Given the description of an element on the screen output the (x, y) to click on. 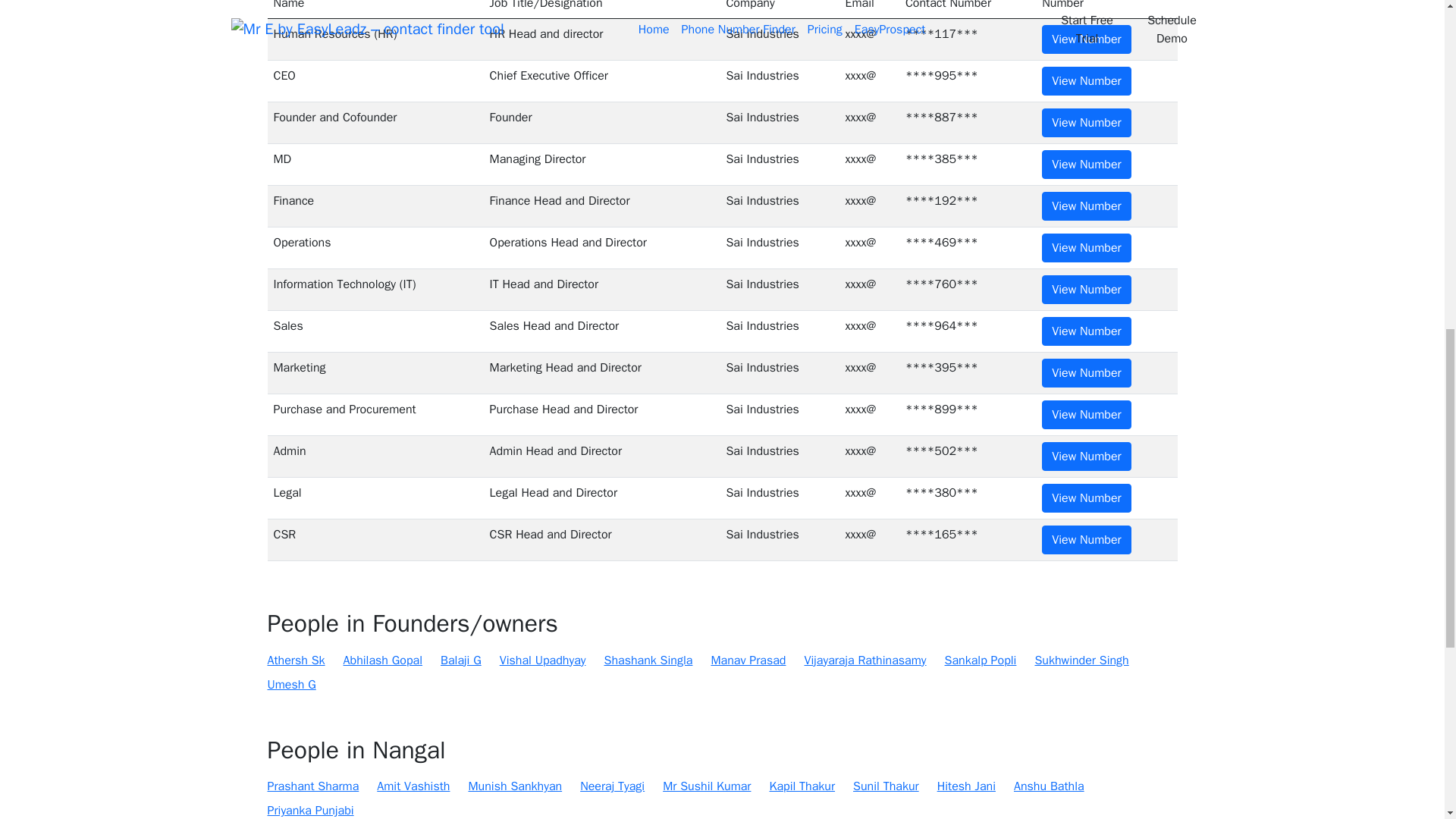
View Number (1086, 164)
Shashank Singla (648, 660)
View Number (1086, 247)
View Number (1086, 539)
View Number (1086, 289)
View Number (1086, 205)
Amit Vashisth (413, 786)
View Number (1086, 39)
Vijayaraja Rathinasamy (864, 660)
View Number (1086, 498)
View Number (1086, 80)
Athersh Sk (295, 660)
View Number (1086, 372)
Sankalp Popli (980, 660)
Vishal Upadhyay (542, 660)
